Given the description of an element on the screen output the (x, y) to click on. 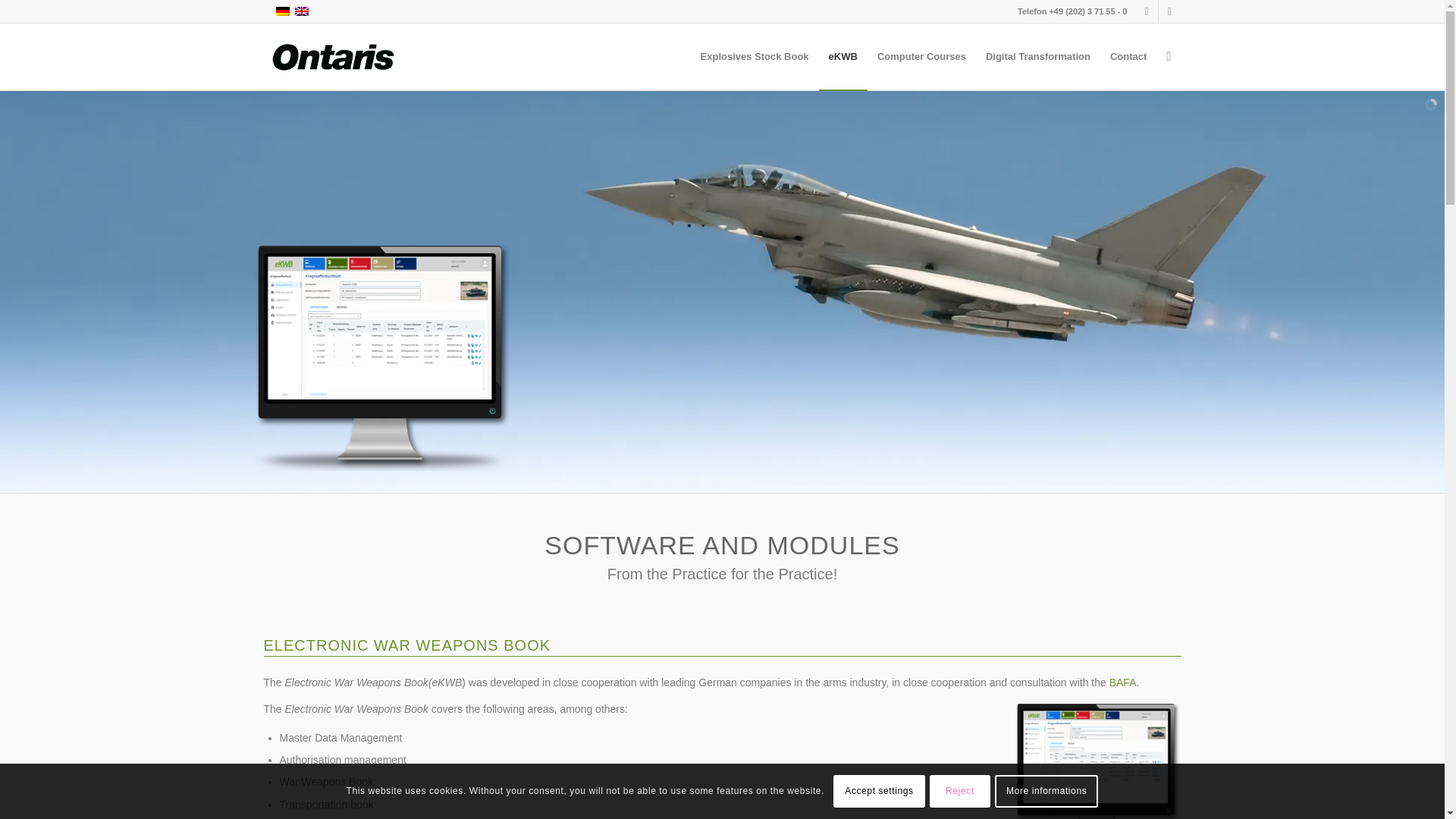
Explosives Stock Book (754, 56)
BAFA (1123, 682)
English (301, 10)
LinkedIn (1169, 11)
Youtube (1146, 11)
Deutsch (282, 10)
Read our privacy policy. (1046, 790)
Digital Transformation (1037, 56)
Computer Courses (921, 56)
